Given the description of an element on the screen output the (x, y) to click on. 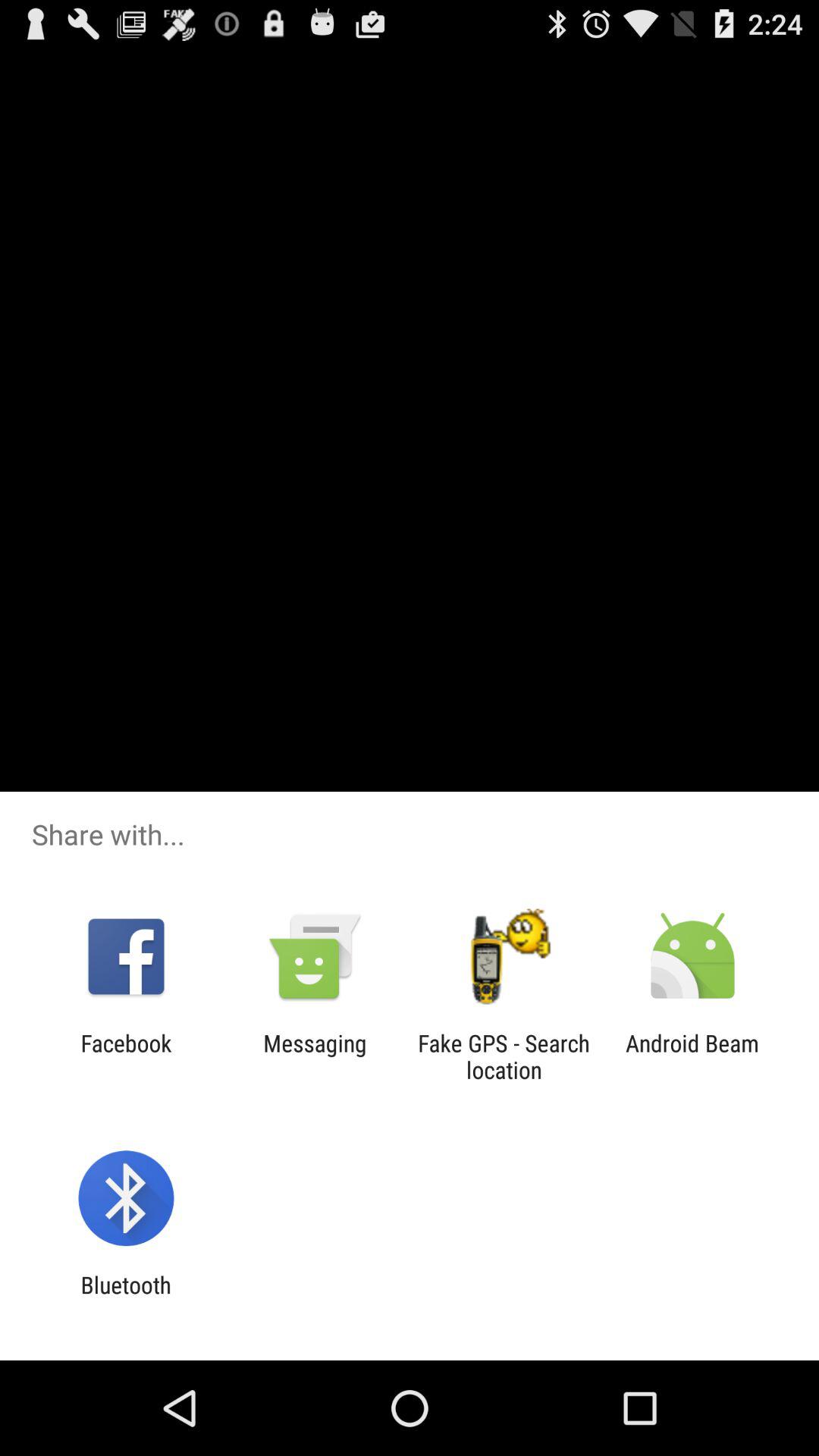
turn on the item to the left of the fake gps search app (314, 1056)
